Given the description of an element on the screen output the (x, y) to click on. 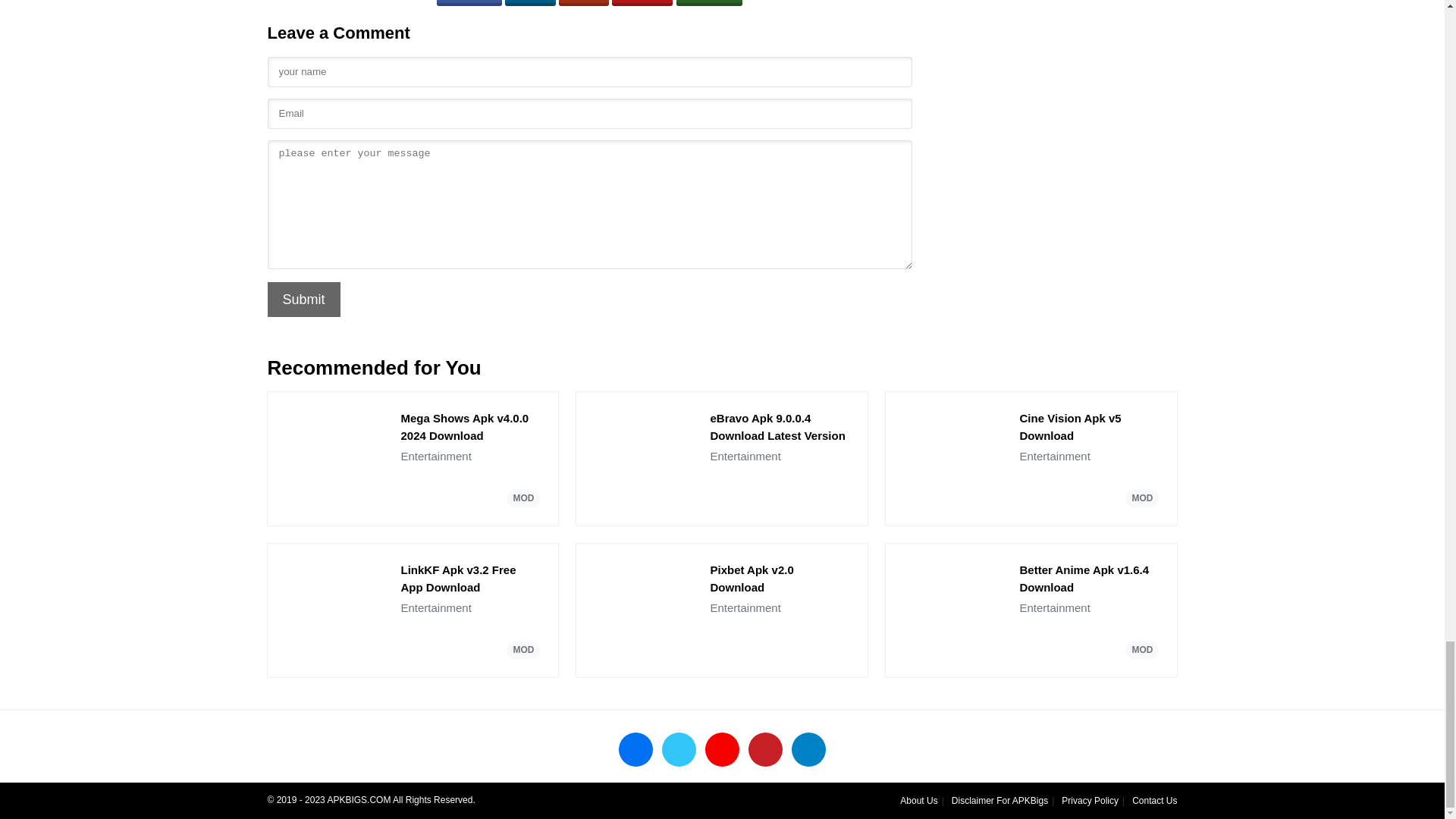
Whatsapp (709, 2)
EBravo Apk 9.0.0.4 Download Latest Version (779, 427)
Cine Vision Apk V5 Download (1088, 427)
Submit (302, 298)
Pixbet Apk V2.0 Download (779, 578)
Mega Shows Apk V4.0.0 2024 Download (470, 427)
Official Twitter Account of APKBIGS.COM (678, 749)
Share on Whatsapp (709, 2)
Better Anime Apk V1.6.4 Download (1088, 578)
LinkKF Apk V3.2 Free App Download (470, 578)
Official Facebook Page of APKBIGS.COM (635, 749)
Official Youtube Channel of APKBIGS.COM (721, 749)
